Given the description of an element on the screen output the (x, y) to click on. 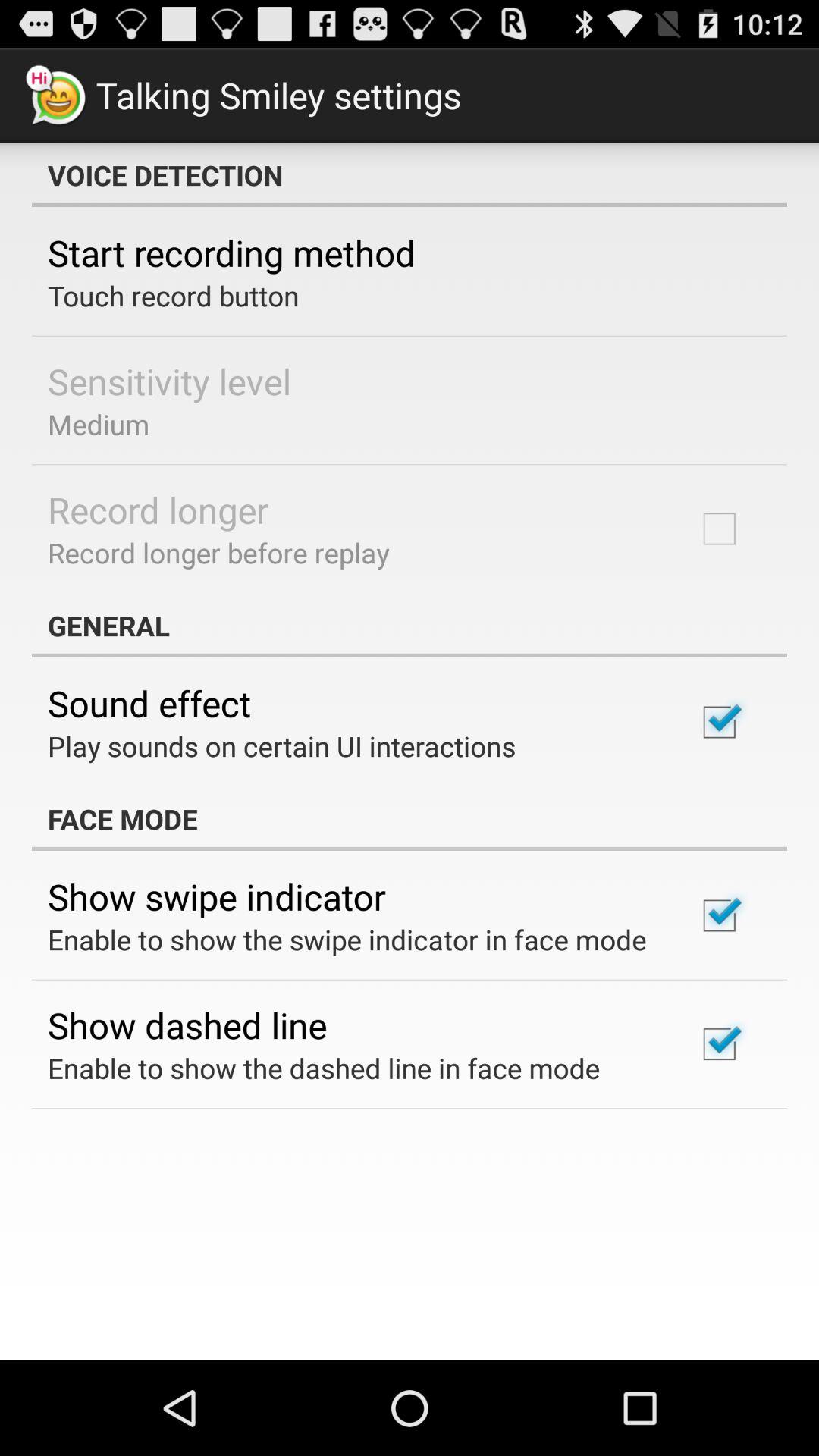
tap icon below the record longer before app (409, 625)
